Given the description of an element on the screen output the (x, y) to click on. 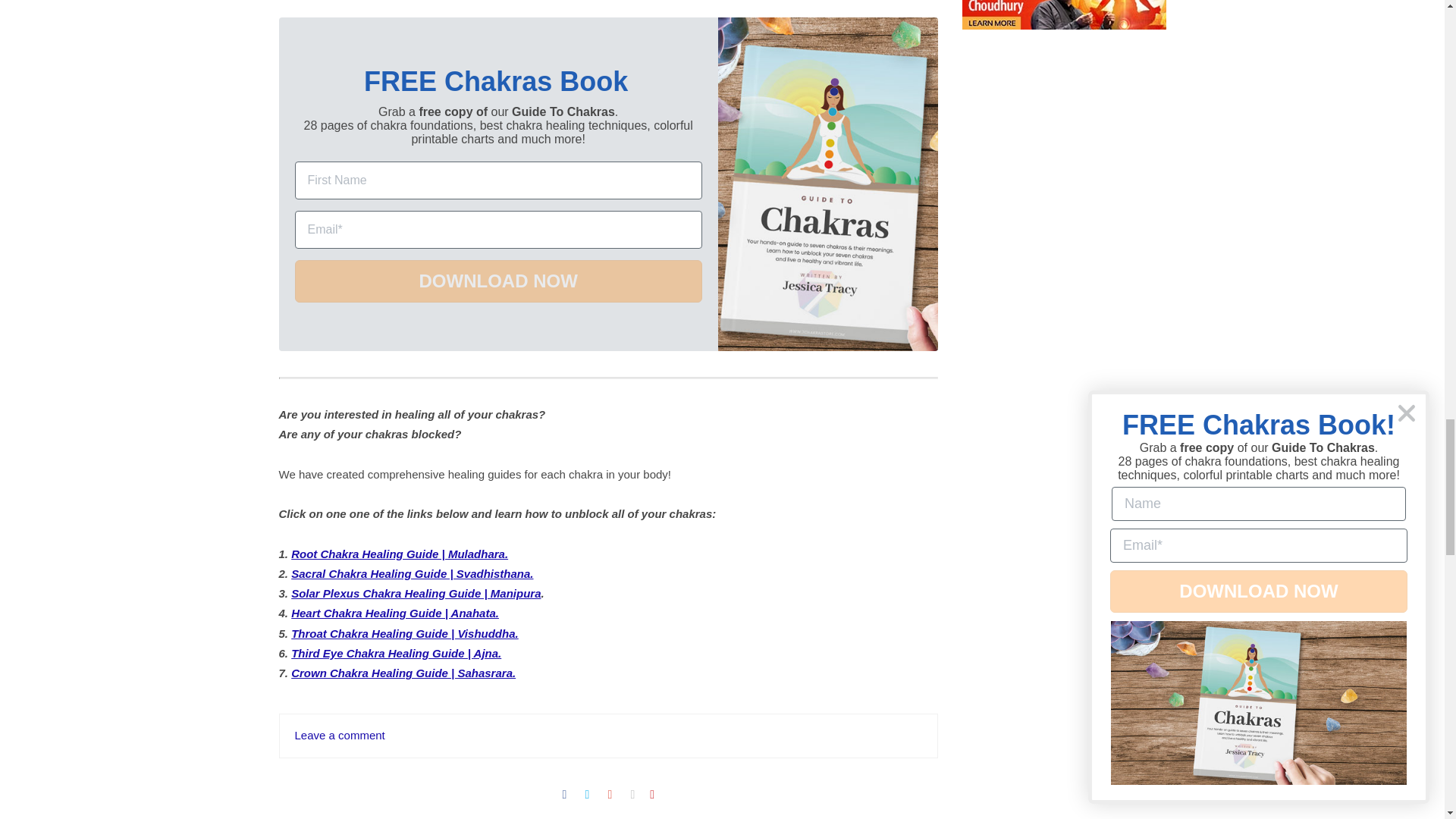
Root Chakra Healing Guide - Muladhara (399, 553)
